Given the description of an element on the screen output the (x, y) to click on. 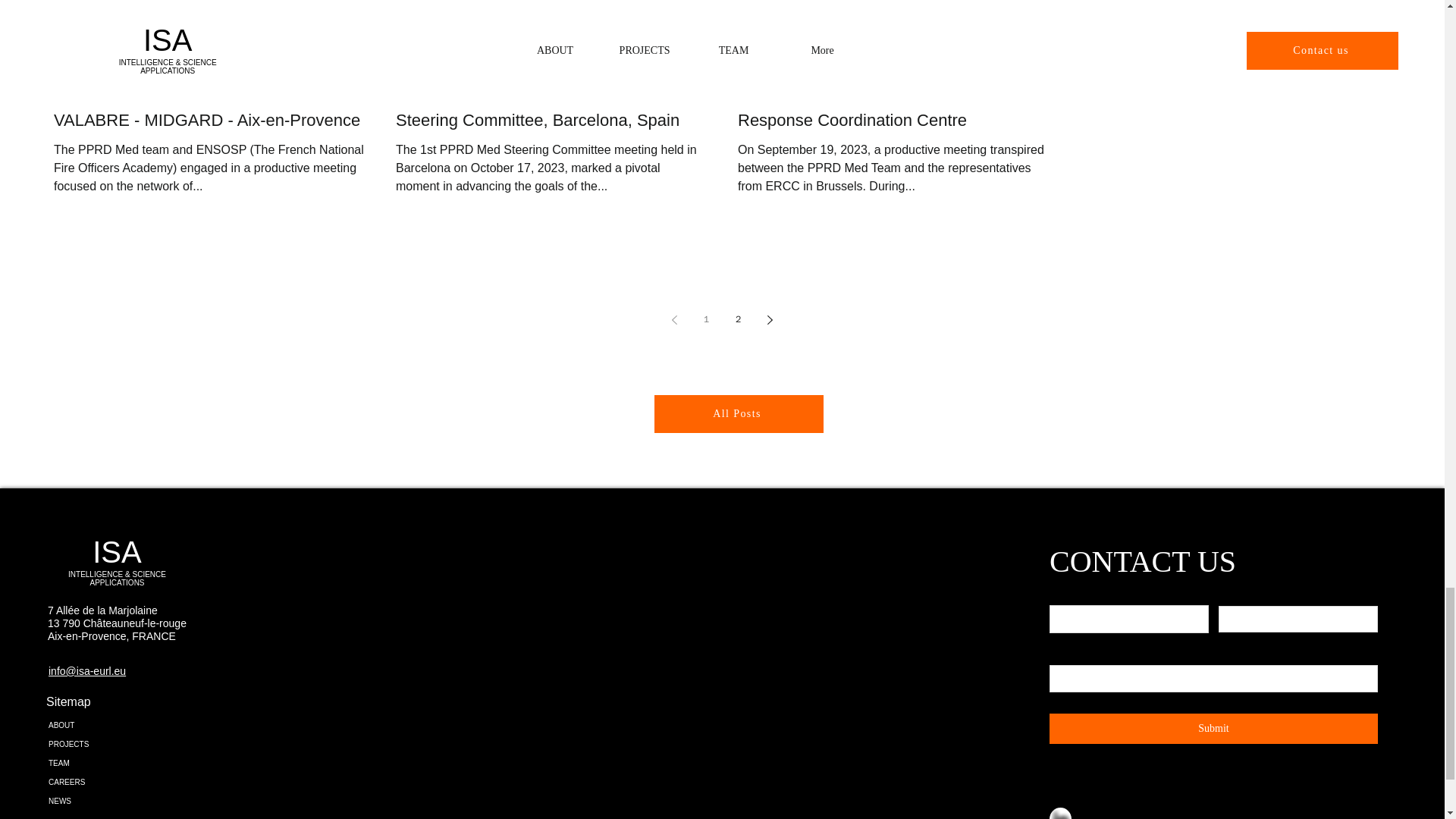
NEWS (101, 800)
ISA (117, 551)
APPLICATIONS (116, 582)
2 (738, 319)
All Posts (737, 413)
TEAM (101, 763)
CAREERS (101, 782)
Submit (1213, 728)
PROJECTS (101, 743)
